Given the description of an element on the screen output the (x, y) to click on. 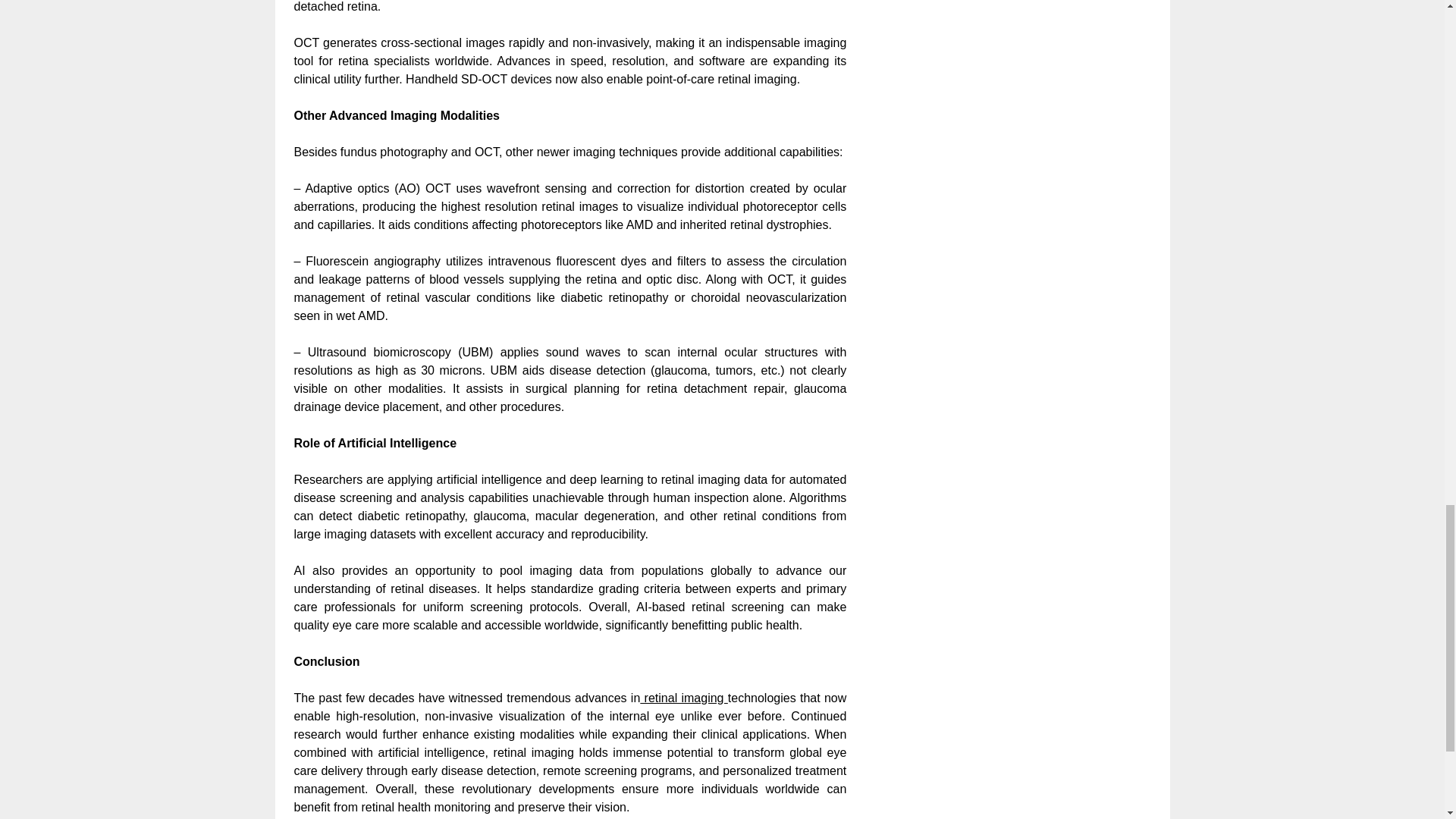
 retinal imaging  (684, 697)
